Given the description of an element on the screen output the (x, y) to click on. 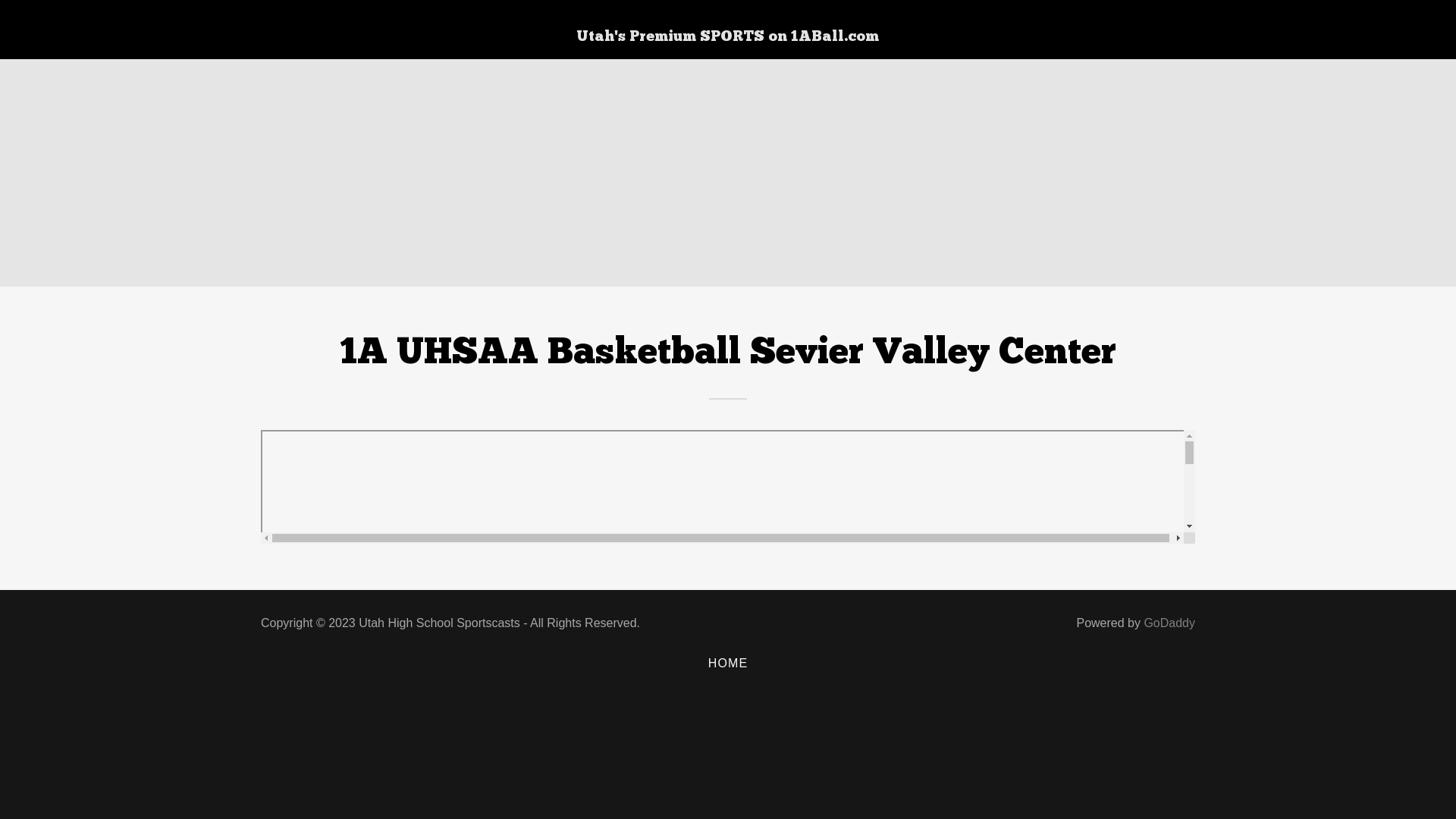
Utah's Premium SPORTS on 1ABall.com Element type: text (727, 35)
GoDaddy Element type: text (1169, 622)
HOME Element type: text (728, 663)
